Given the description of an element on the screen output the (x, y) to click on. 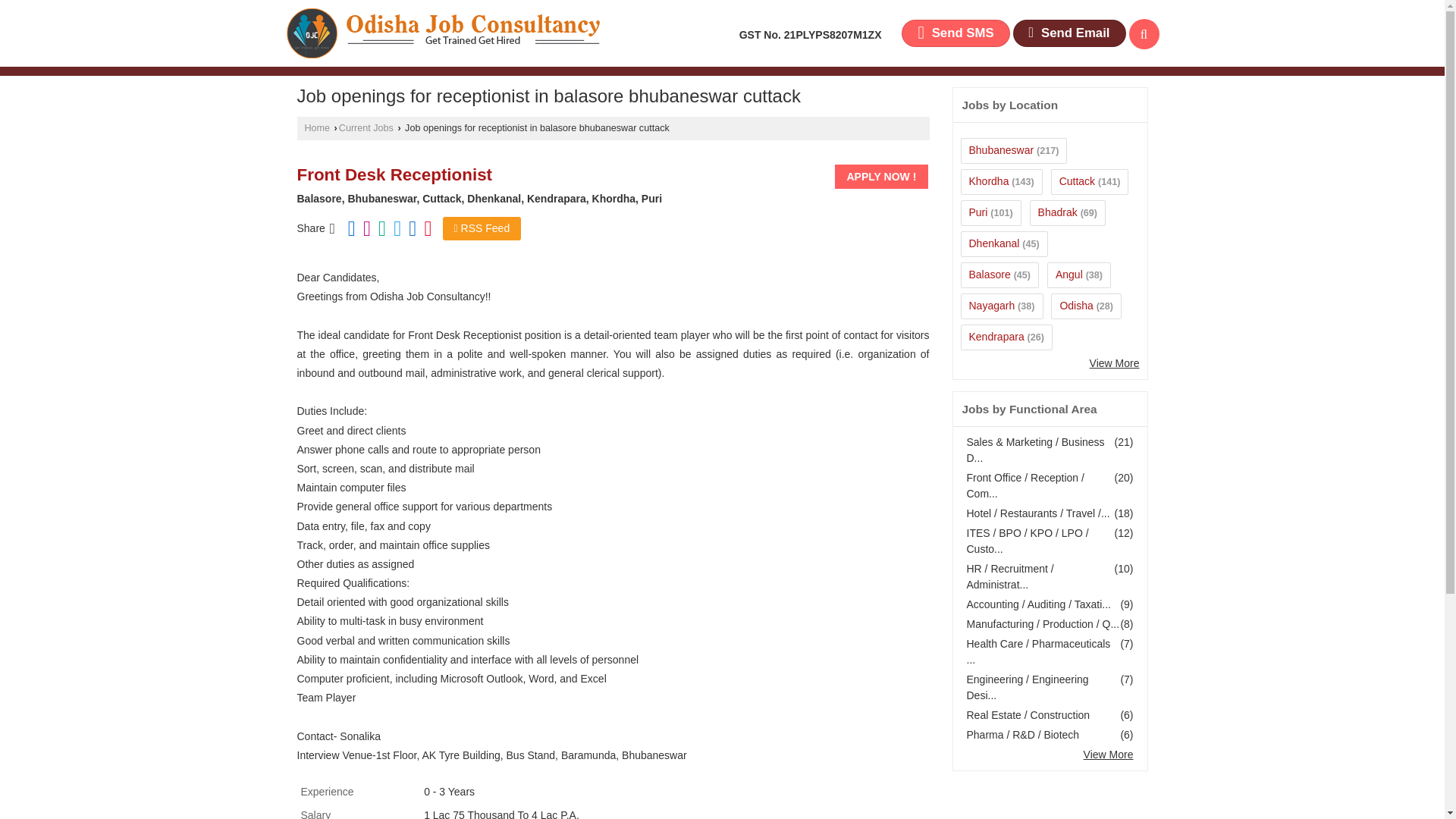
Cuttack (1076, 181)
Current Jobs (366, 127)
Odisha Job Consultancy (442, 32)
Send SMS (955, 33)
Search (1143, 33)
APPLY NOW ! (881, 176)
Khordha (989, 181)
Bhubaneswar (1001, 150)
RSS Feed (481, 228)
Send Email (1069, 33)
